Given the description of an element on the screen output the (x, y) to click on. 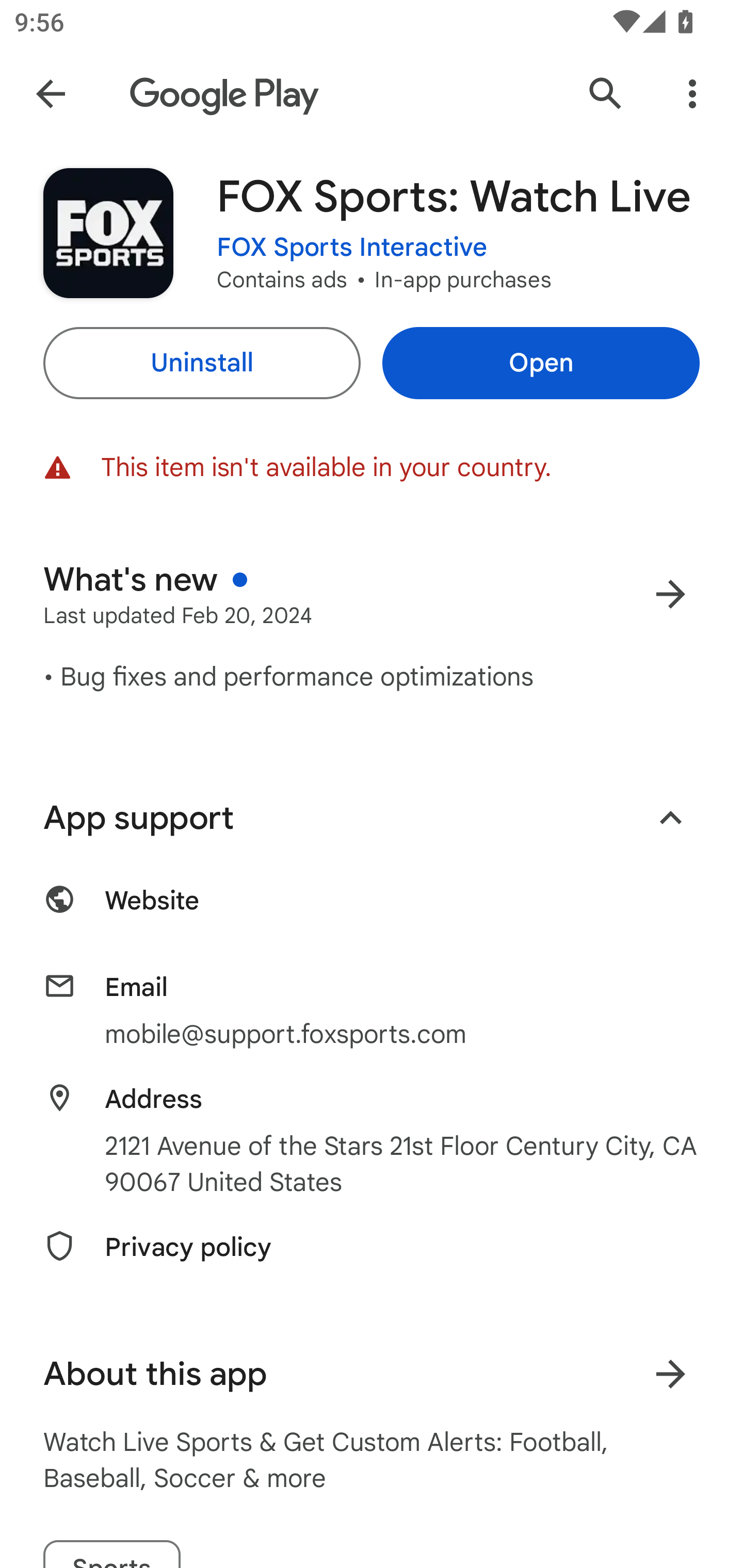
Navigate up (50, 93)
Search Google Play (605, 93)
More Options (692, 93)
FOX Sports Interactive (351, 247)
Uninstall (201, 362)
Open (540, 362)
More results for What's new (670, 594)
App support Collapse (371, 817)
Collapse (670, 817)
Website (371, 911)
Email mobile@support.foxsports.com (371, 1010)
Privacy policy (371, 1258)
About this app Learn more About this app (371, 1374)
Learn more About this app (670, 1374)
